Given the description of an element on the screen output the (x, y) to click on. 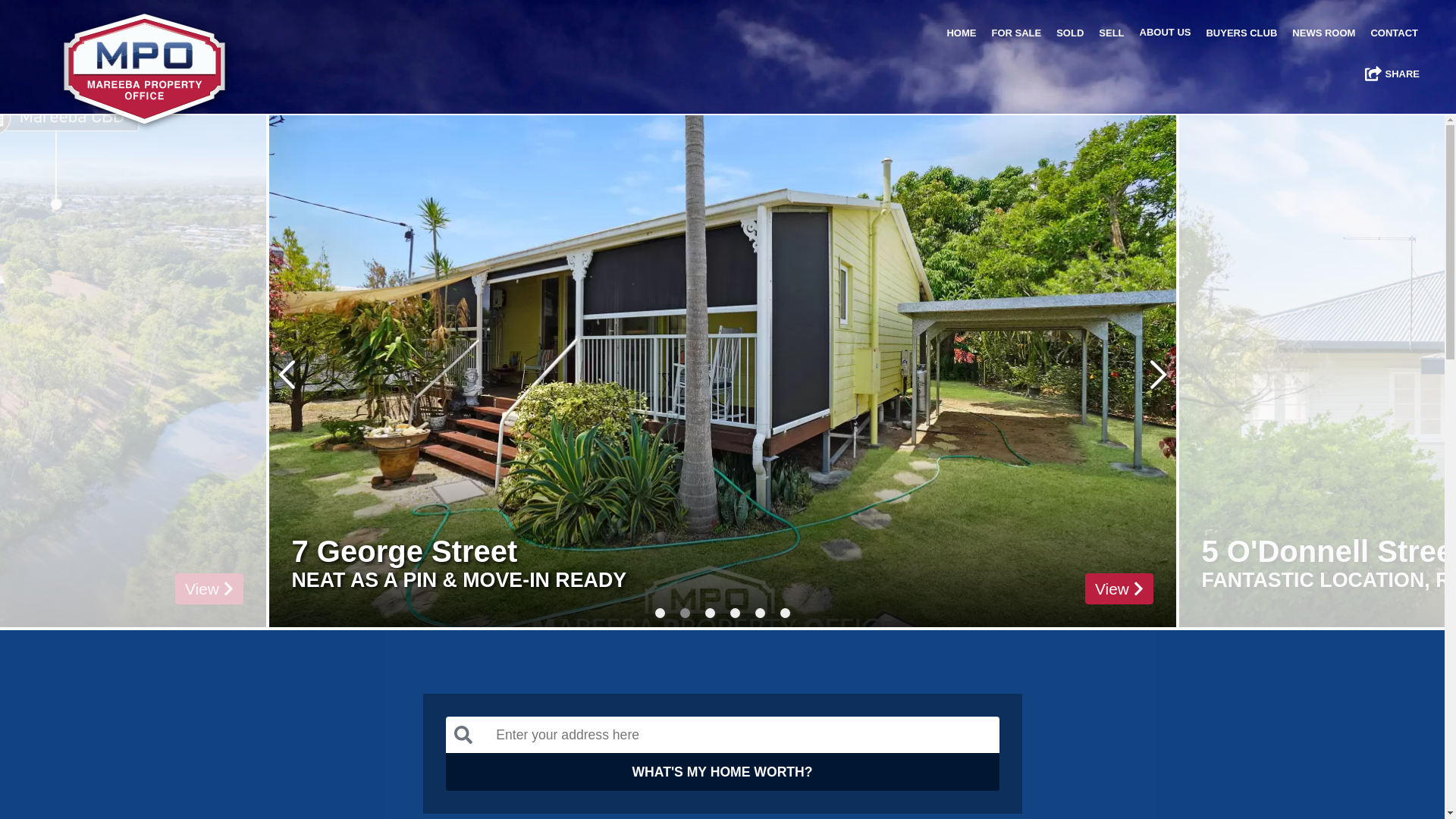
SOLD Element type: text (1069, 32)
View Element type: text (1118, 588)
1 Element type: text (660, 613)
SELL Element type: text (1111, 32)
CONTACT Element type: text (1393, 32)
HOME Element type: text (960, 32)
5 Element type: text (760, 613)
6 Element type: text (784, 613)
WHAT'S MY HOME WORTH? Element type: text (722, 771)
ABOUT US Element type: text (1165, 31)
BUYERS CLUB Element type: text (1241, 32)
FOR SALE Element type: text (1015, 32)
4 Element type: text (734, 613)
2 Element type: text (684, 613)
3 Element type: text (710, 613)
View Element type: text (236, 588)
NEWS ROOM Element type: text (1323, 32)
